Given the description of an element on the screen output the (x, y) to click on. 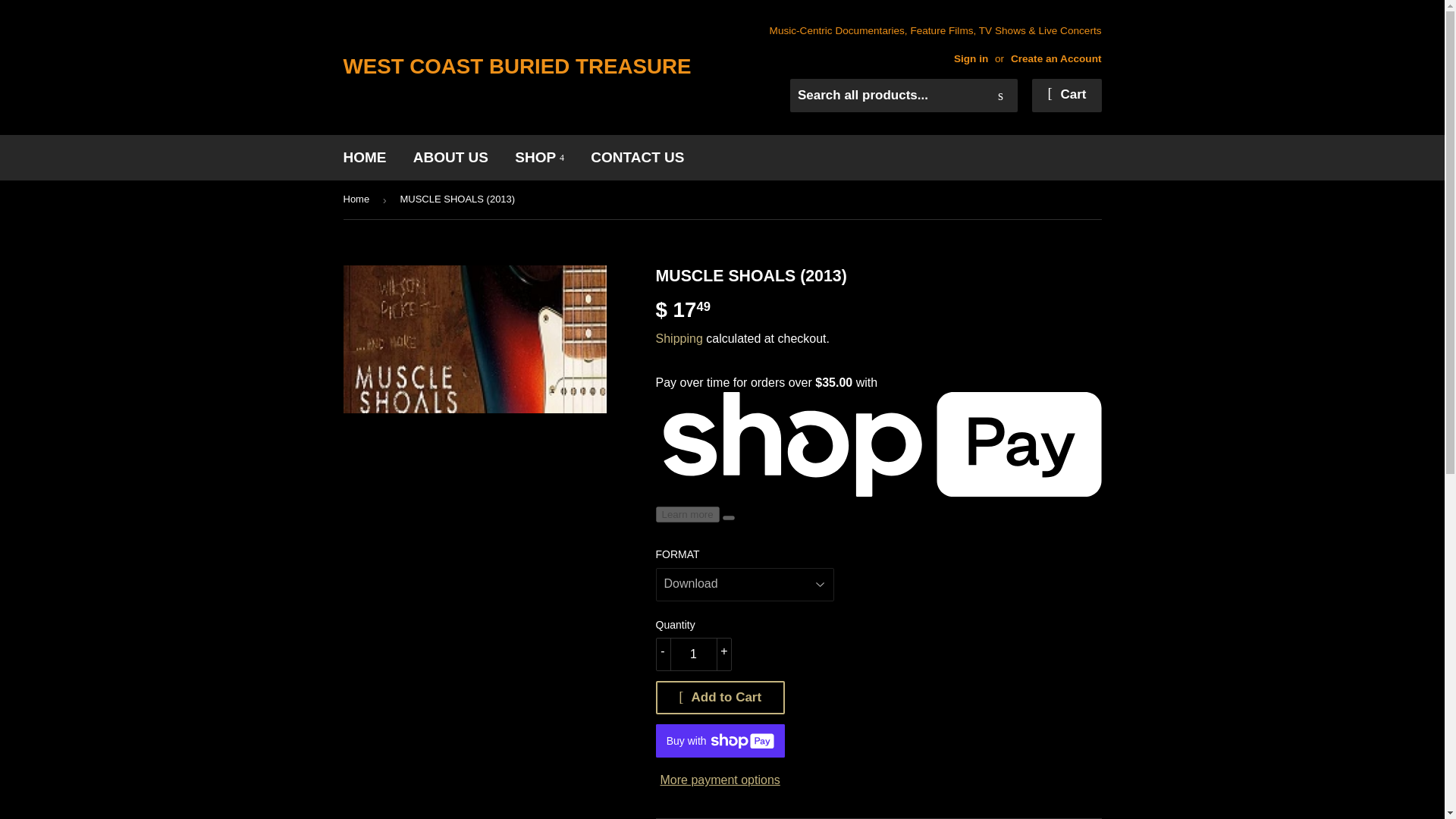
WEST COAST BURIED TREASURE (532, 66)
1 (692, 654)
Create an Account (1056, 58)
CONTACT US (637, 157)
Shipping (678, 338)
ABOUT US (450, 157)
Sign in (970, 58)
More payment options (719, 780)
HOME (364, 157)
Cart (1066, 95)
